Given the description of an element on the screen output the (x, y) to click on. 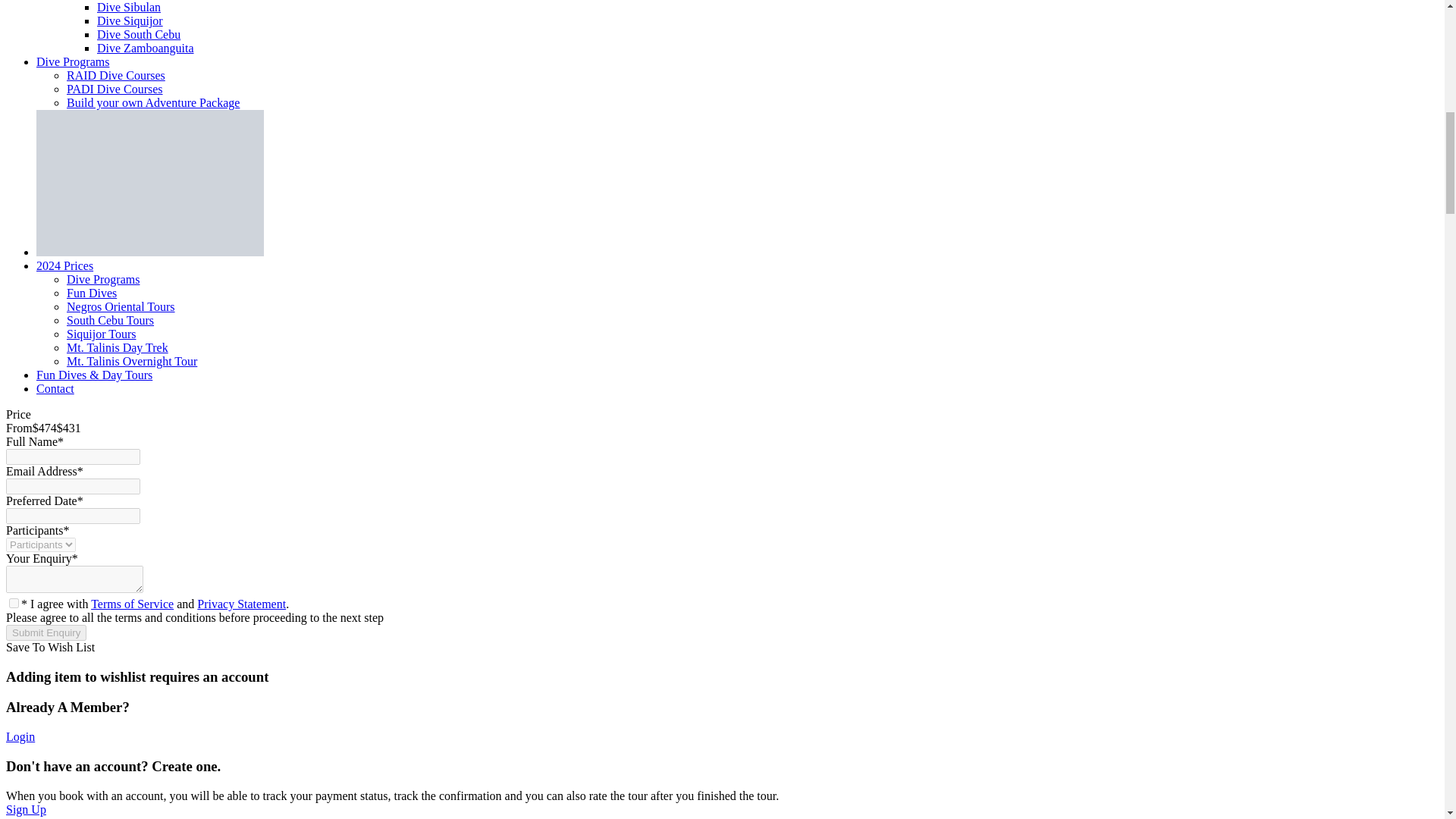
Submit Enquiry (45, 632)
on (13, 603)
Aqua Ventura Diving  Logo (149, 182)
